Given the description of an element on the screen output the (x, y) to click on. 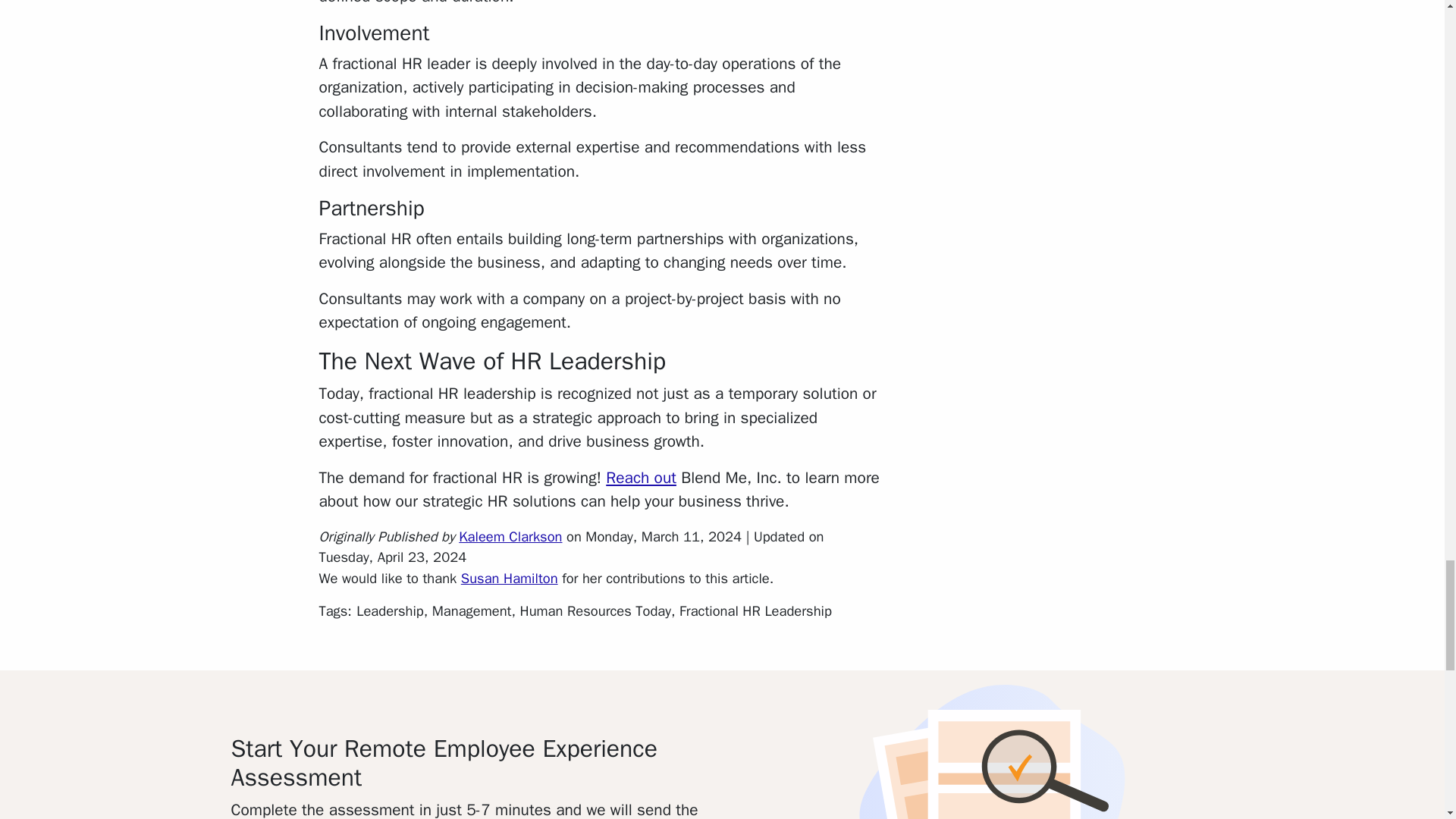
Reach out (641, 477)
Kaleem Clarkson (510, 536)
Susan Hamilton (509, 578)
View user profile. (510, 536)
